Given the description of an element on the screen output the (x, y) to click on. 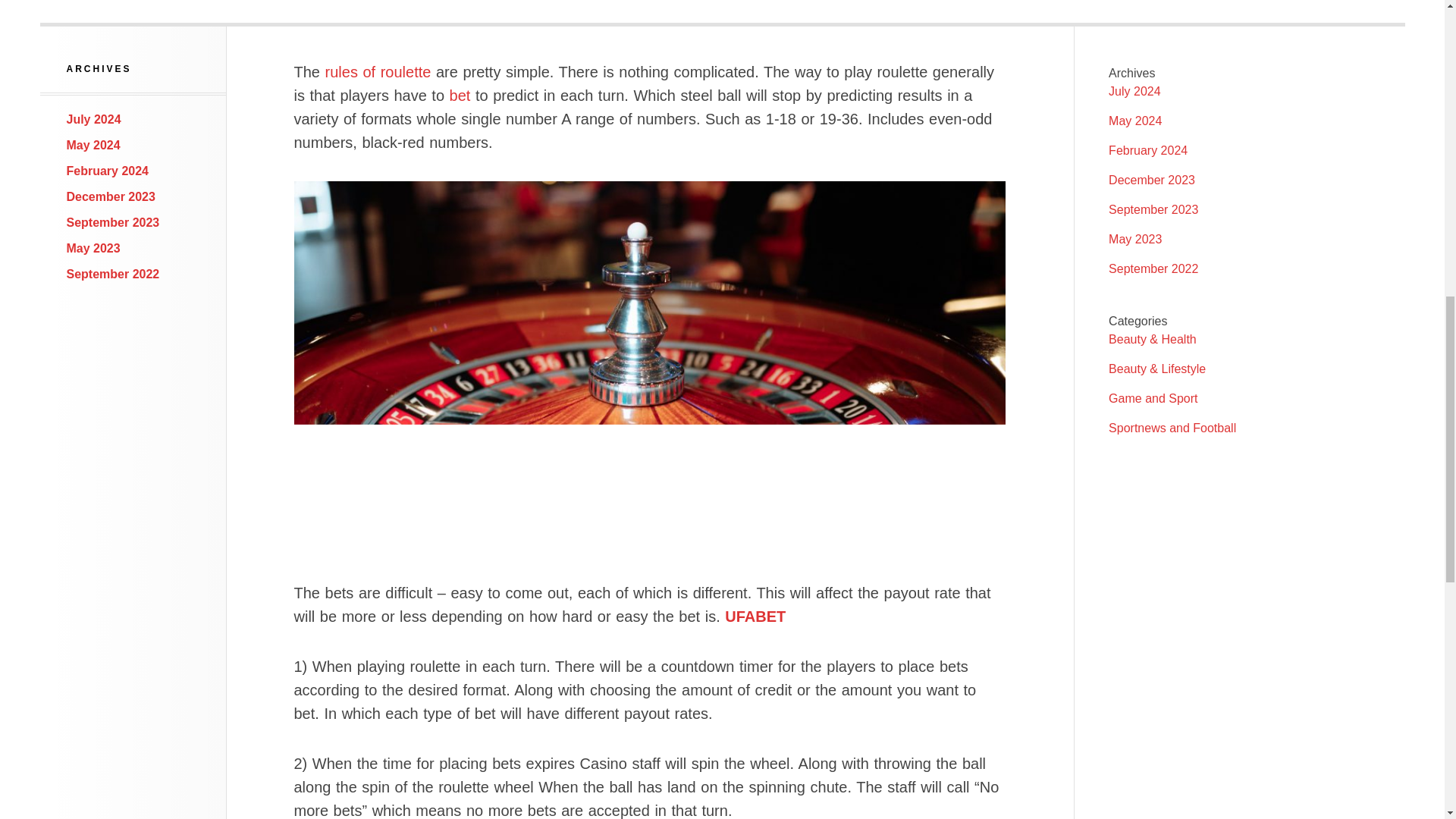
May 2023 (93, 247)
UFABET (755, 616)
September 2023 (113, 222)
December 2023 (110, 196)
May 2024 (93, 144)
February 2024 (107, 170)
July 2024 (93, 119)
bet (459, 95)
rules of roulette (377, 71)
September 2022 (113, 273)
